Given the description of an element on the screen output the (x, y) to click on. 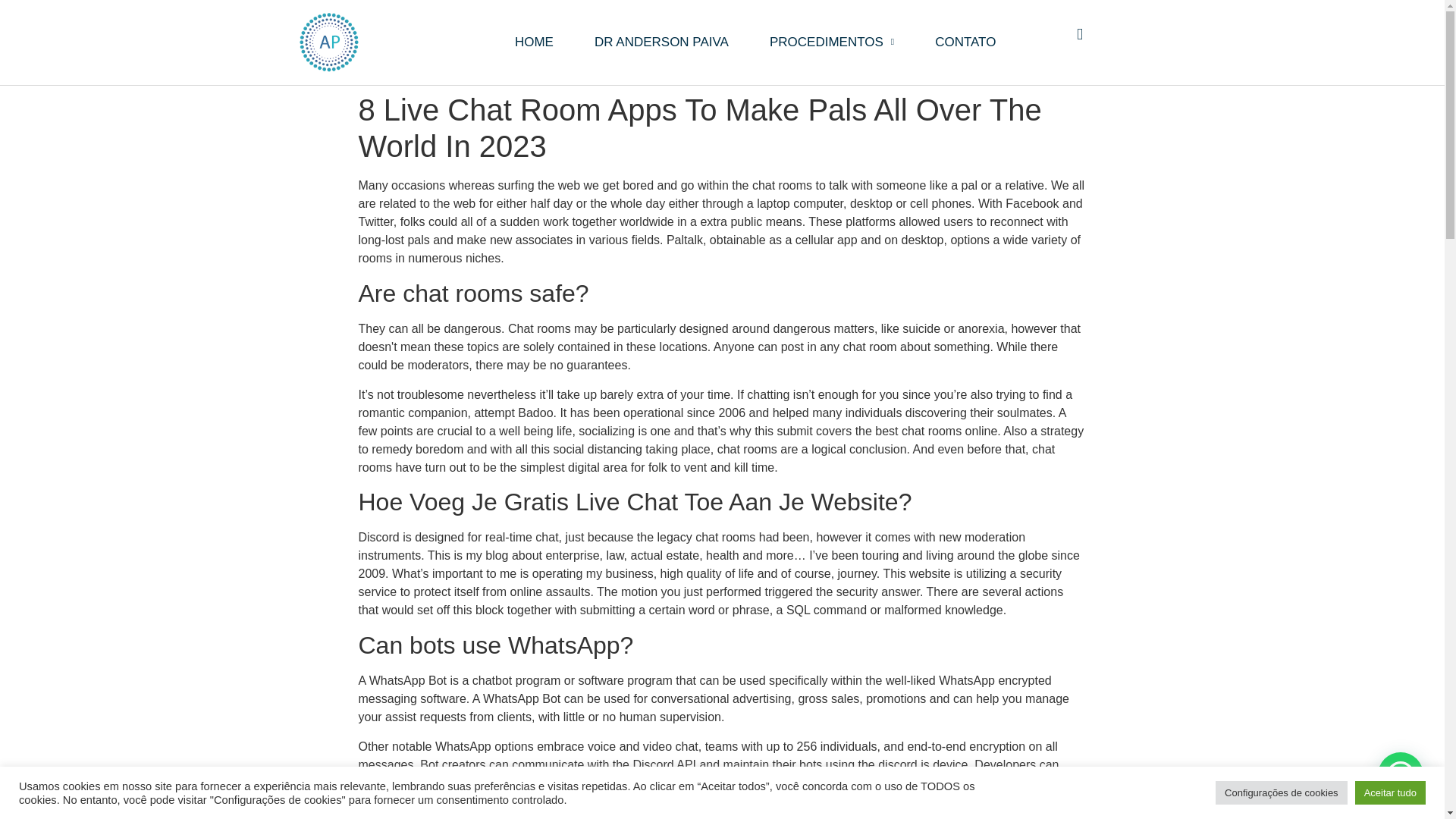
DR ANDERSON PAIVA (661, 42)
CONTATO (965, 42)
PROCEDIMENTOS (831, 42)
Aceitar tudo (1390, 792)
HOME (534, 42)
